Given the description of an element on the screen output the (x, y) to click on. 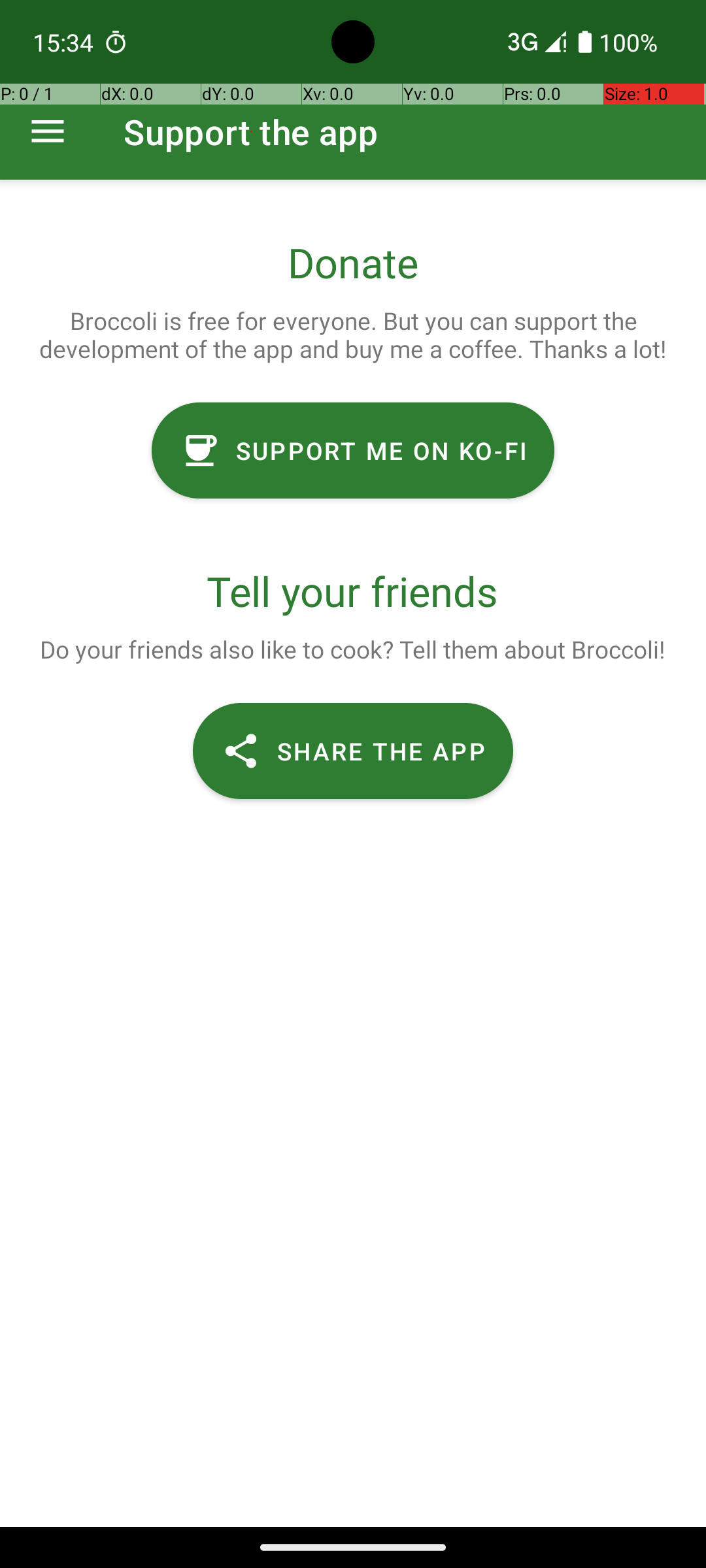
Support the app Element type: android.widget.TextView (250, 131)
Donate Element type: android.widget.TextView (352, 262)
Broccoli is free for everyone. But you can support the development of the app and buy me a coffee. Thanks a lot! Element type: android.widget.TextView (352, 334)
SUPPORT ME ON KO-FI Element type: android.widget.Button (352, 450)
Tell your friends Element type: android.widget.TextView (352, 590)
Do your friends also like to cook? Tell them about Broccoli! Element type: android.widget.TextView (352, 648)
SHARE THE APP Element type: android.widget.Button (352, 750)
